Given the description of an element on the screen output the (x, y) to click on. 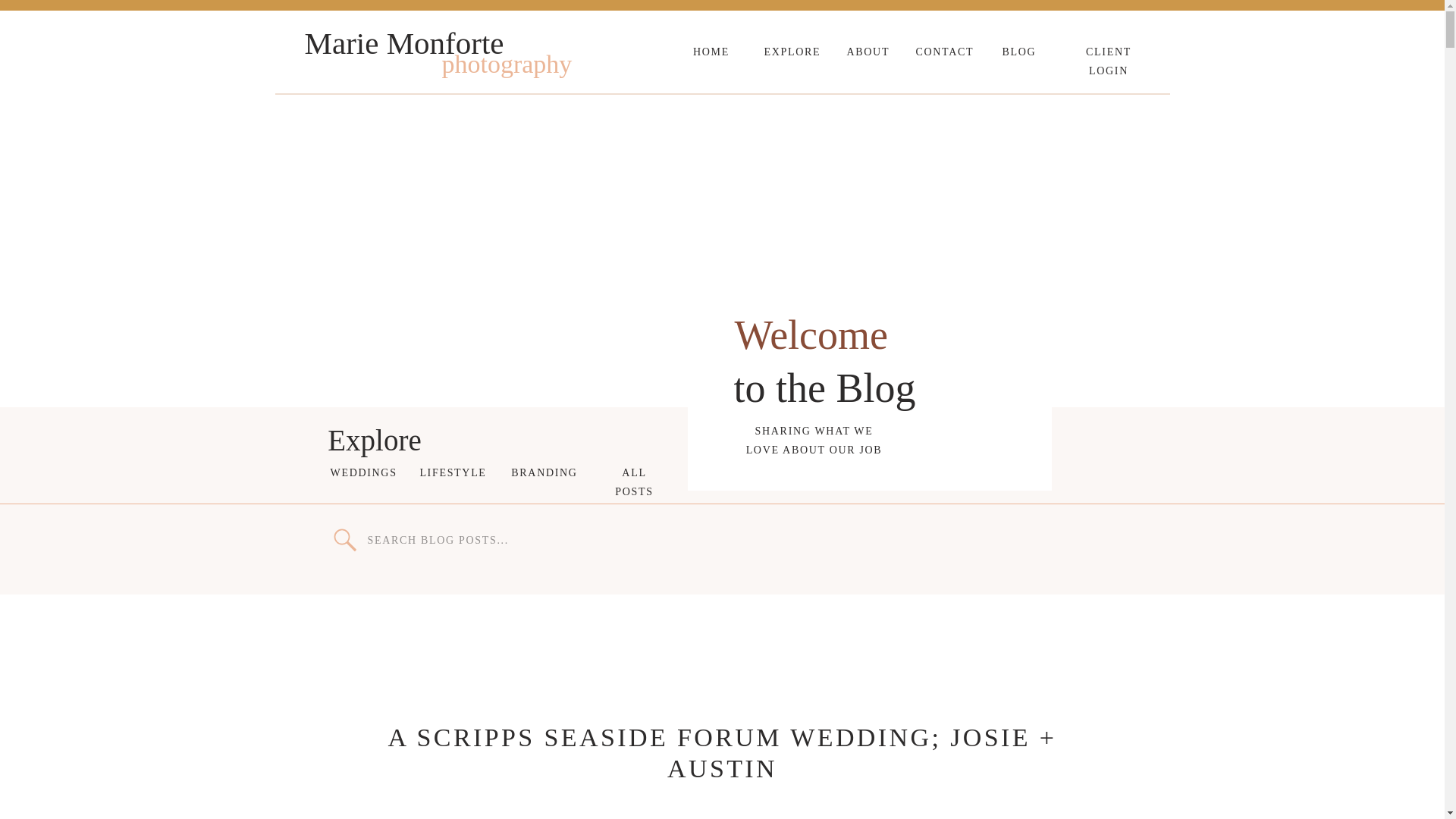
HOME (711, 52)
WEDDINGS (360, 470)
CLIENT LOGIN (1108, 60)
Marie Monforte (433, 43)
EXPLORE (789, 52)
photography (527, 64)
LIFESTYLE (453, 470)
ALL POSTS (634, 470)
BLOG (1016, 52)
ABOUT (865, 52)
